Given the description of an element on the screen output the (x, y) to click on. 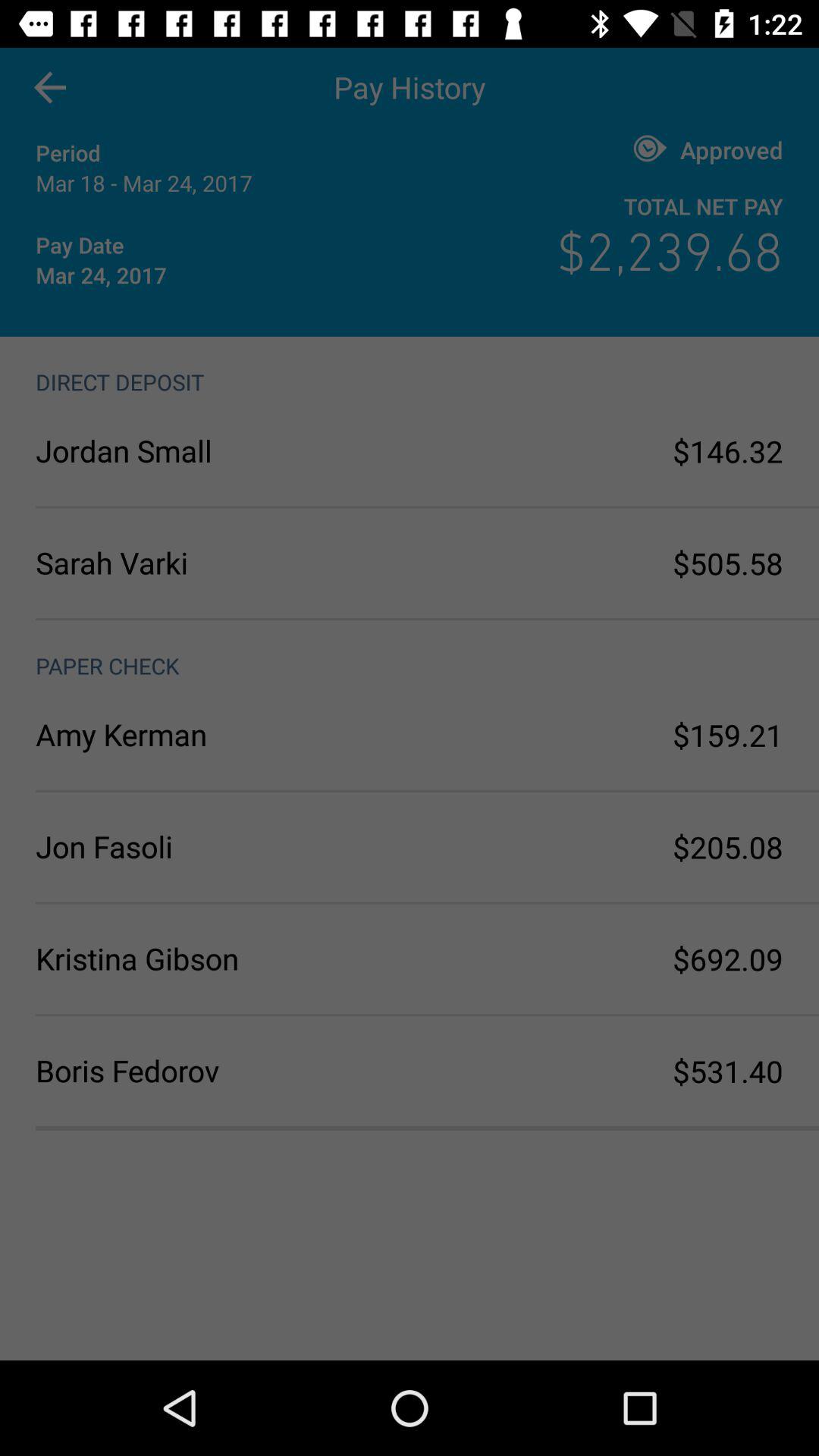
open the $505.58 (727, 563)
